Given the description of an element on the screen output the (x, y) to click on. 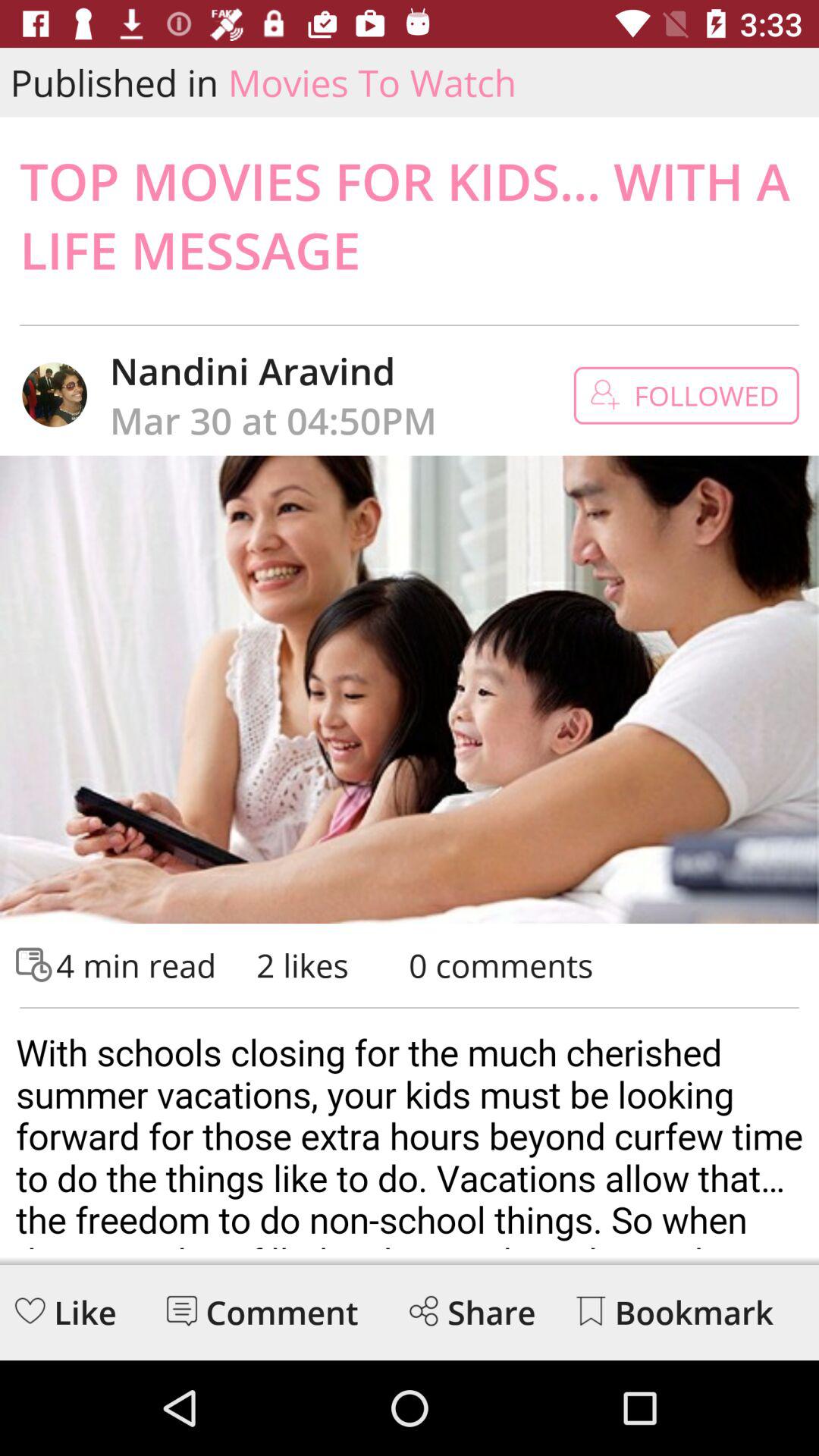
read messages (181, 1310)
